Given the description of an element on the screen output the (x, y) to click on. 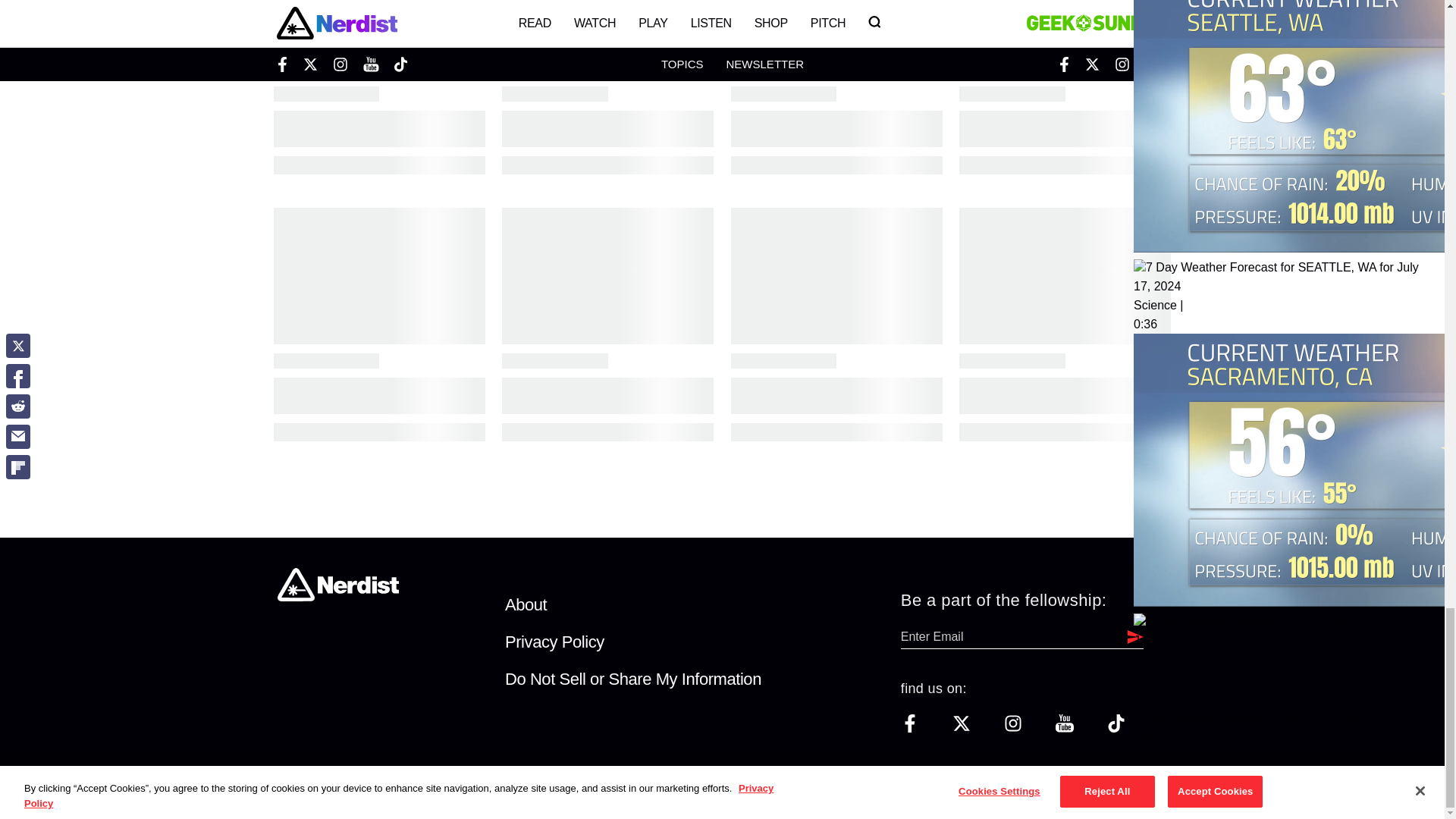
Sign Up (1131, 636)
